Given the description of an element on the screen output the (x, y) to click on. 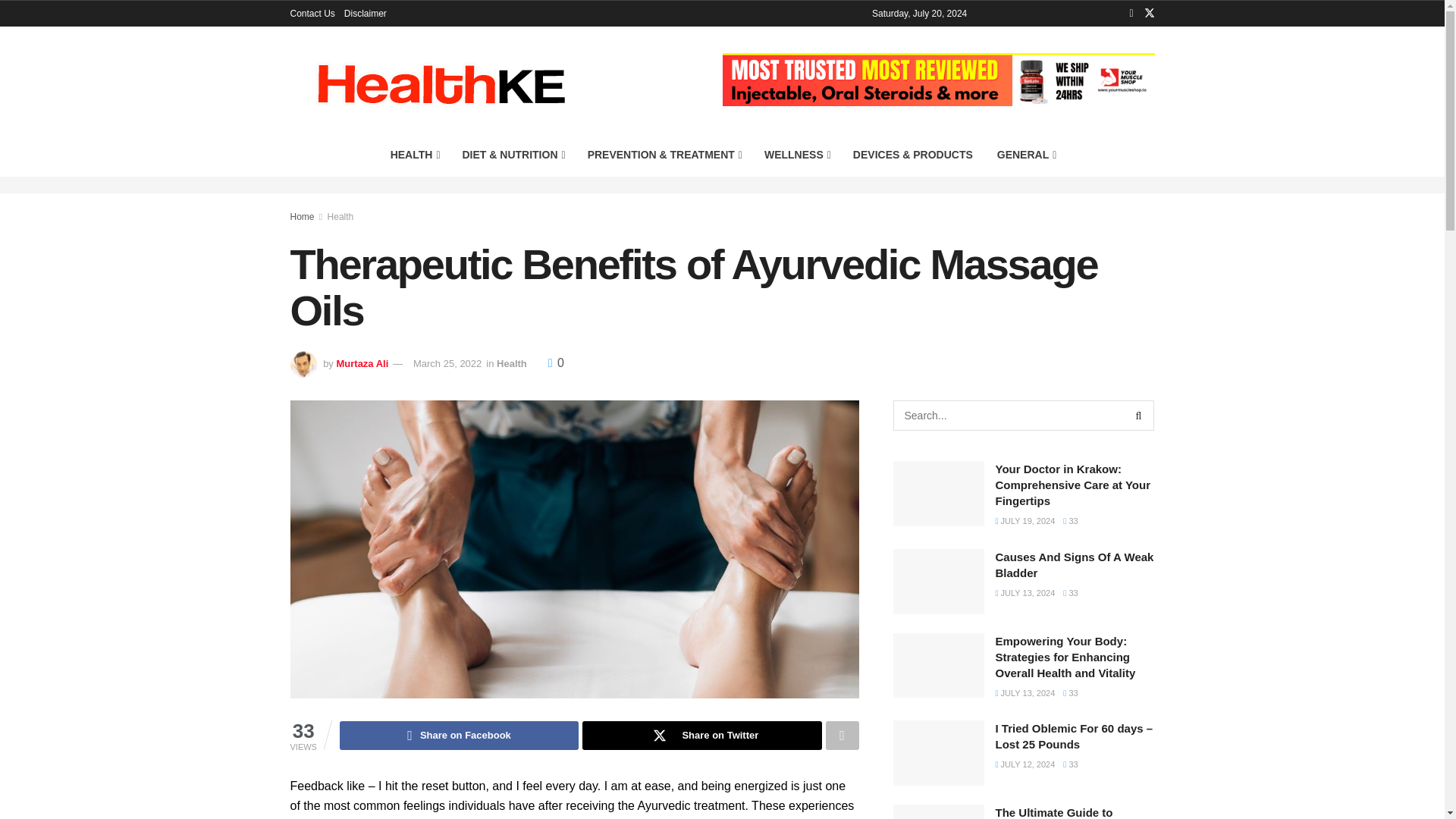
WELLNESS (796, 154)
Contact Us (311, 13)
Disclaimer (365, 13)
HEALTH (413, 154)
GENERAL (1026, 154)
